Given the description of an element on the screen output the (x, y) to click on. 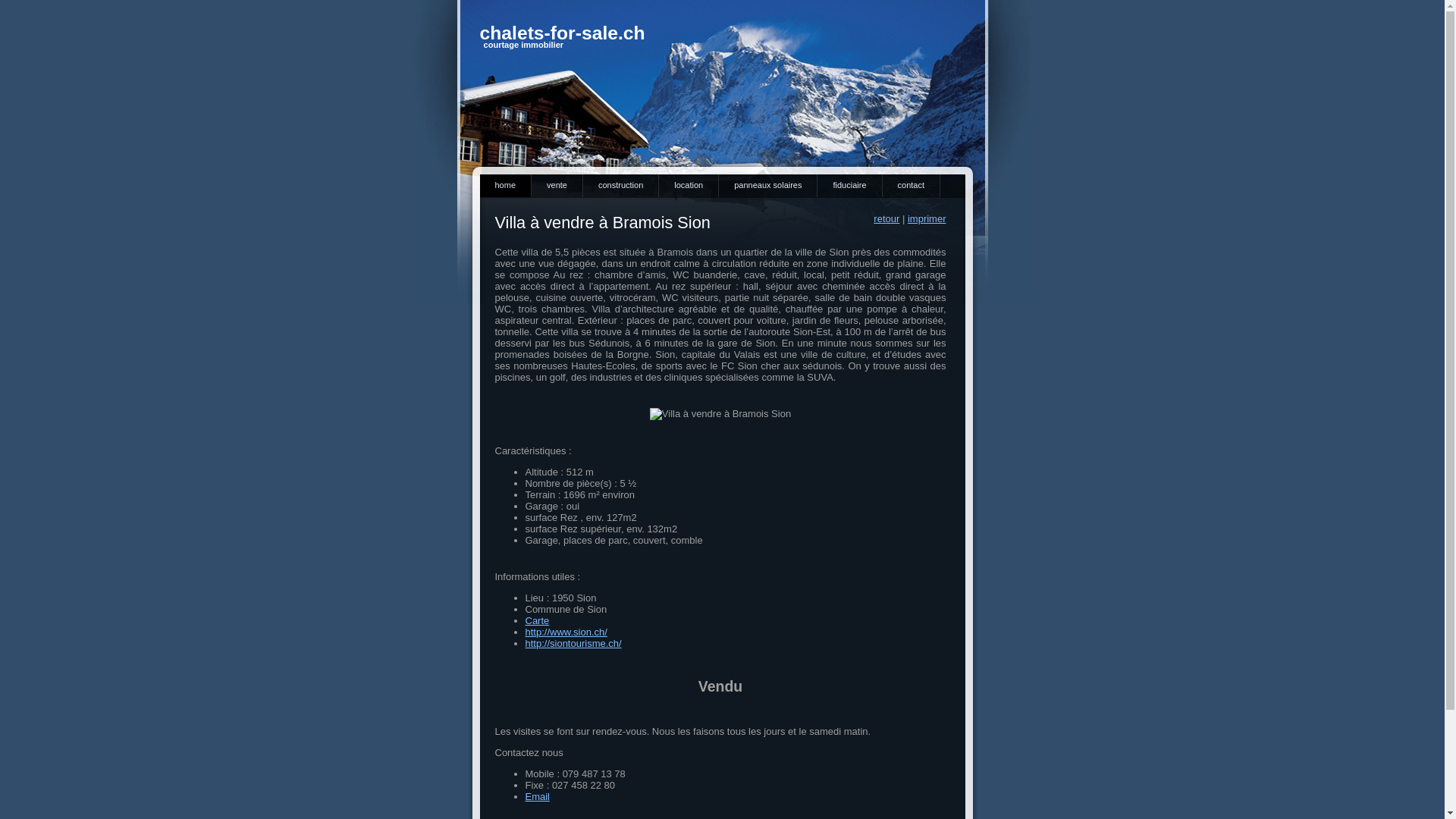
Carte Element type: text (536, 620)
vente Element type: text (557, 185)
contact Element type: text (911, 185)
panneaux solaires Element type: text (767, 185)
construction Element type: text (620, 185)
Email Element type: text (536, 796)
imprimer Element type: text (926, 218)
home Element type: text (505, 185)
location Element type: text (688, 185)
http://www.sion.ch/ Element type: text (565, 631)
http://siontourisme.ch/ Element type: text (572, 643)
retour Element type: text (886, 218)
courtage immobilier Element type: text (523, 44)
chalets-for-sale.ch Element type: text (561, 32)
fiduciaire Element type: text (849, 185)
